Given the description of an element on the screen output the (x, y) to click on. 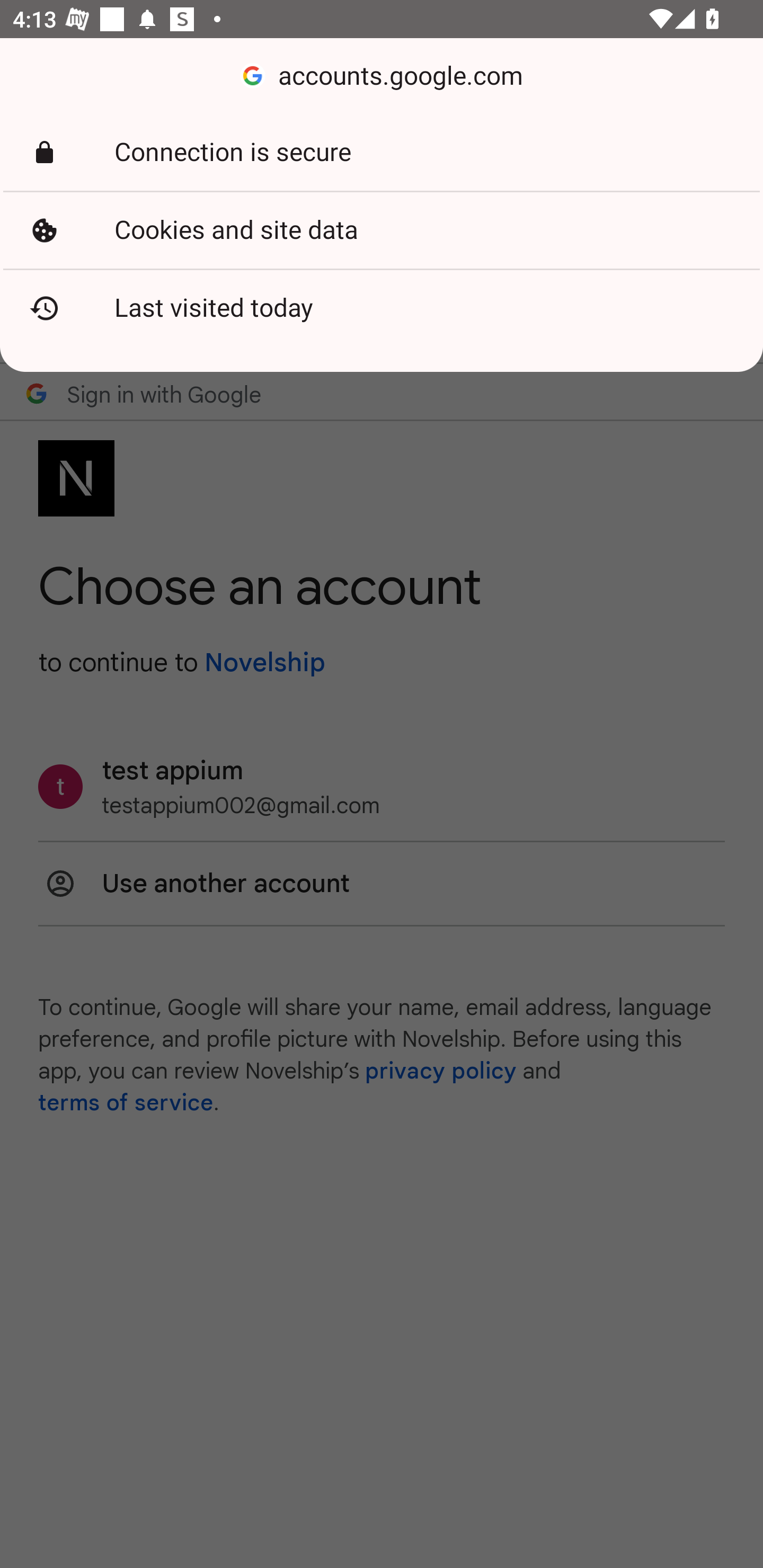
accounts.google.com (381, 75)
Connection is secure (381, 152)
Cookies and site data (381, 230)
Last visited today (381, 307)
